Given the description of an element on the screen output the (x, y) to click on. 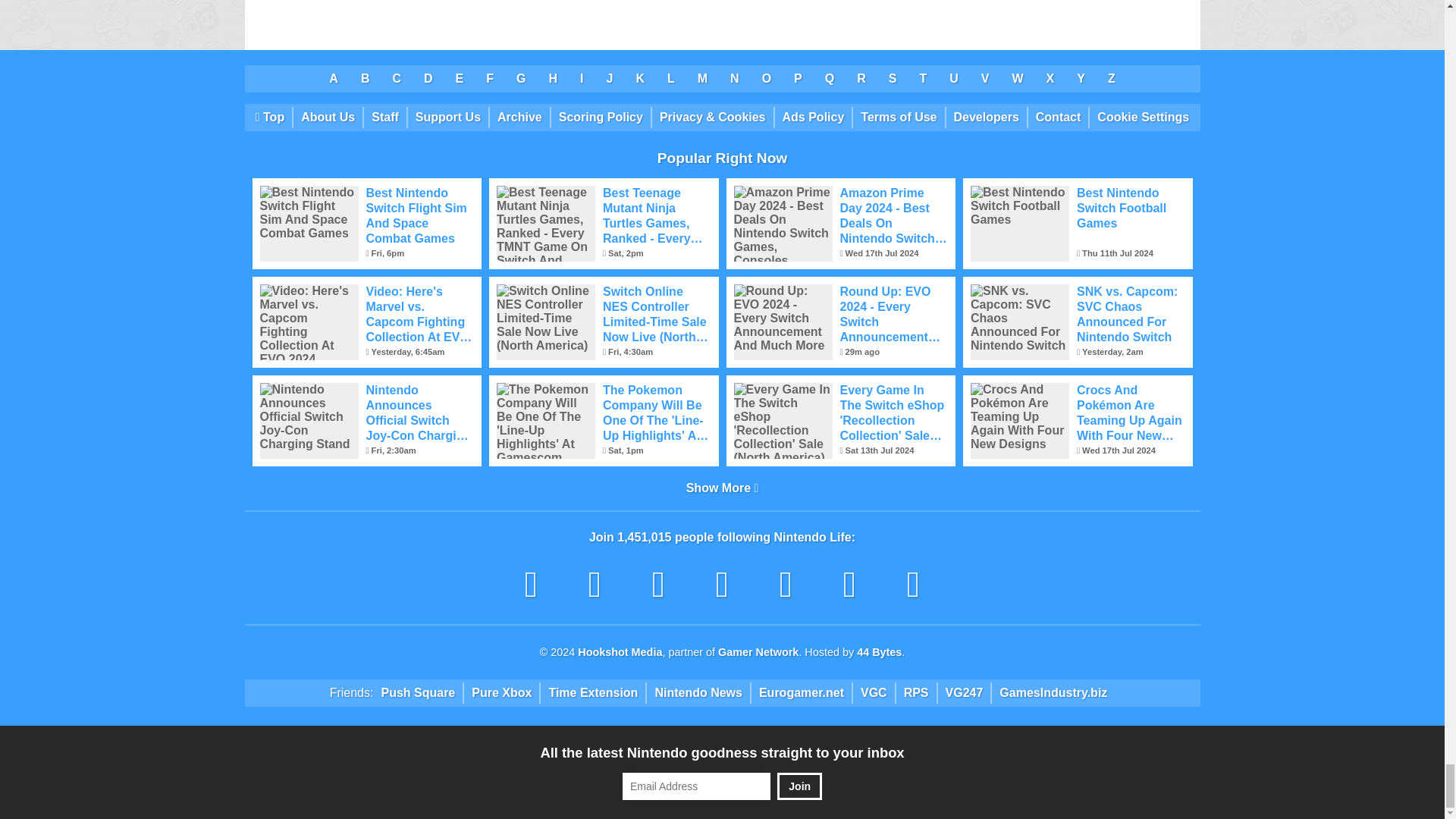
Join (799, 786)
